Given the description of an element on the screen output the (x, y) to click on. 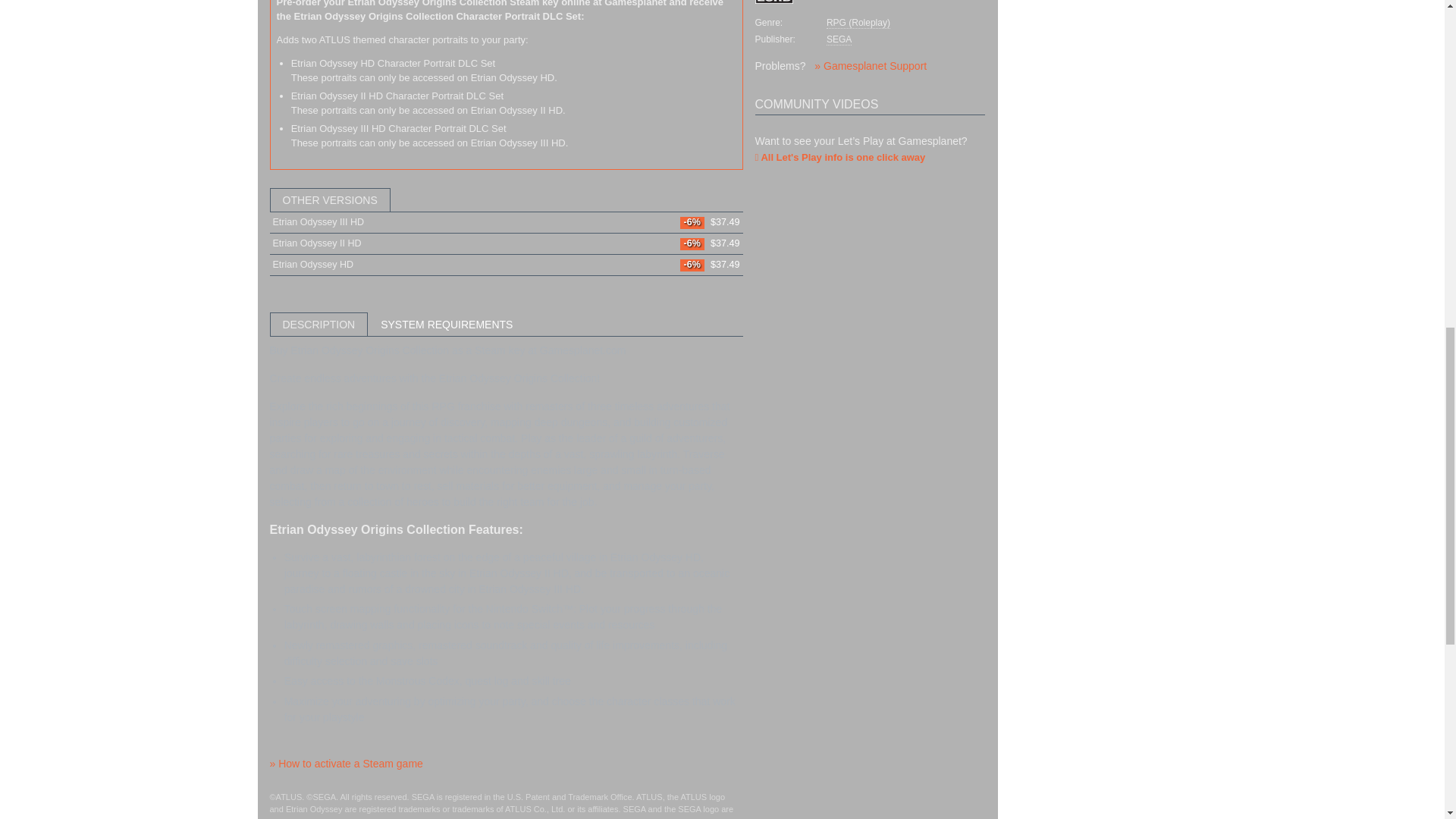
OTHER VERSIONS (505, 200)
